Given the description of an element on the screen output the (x, y) to click on. 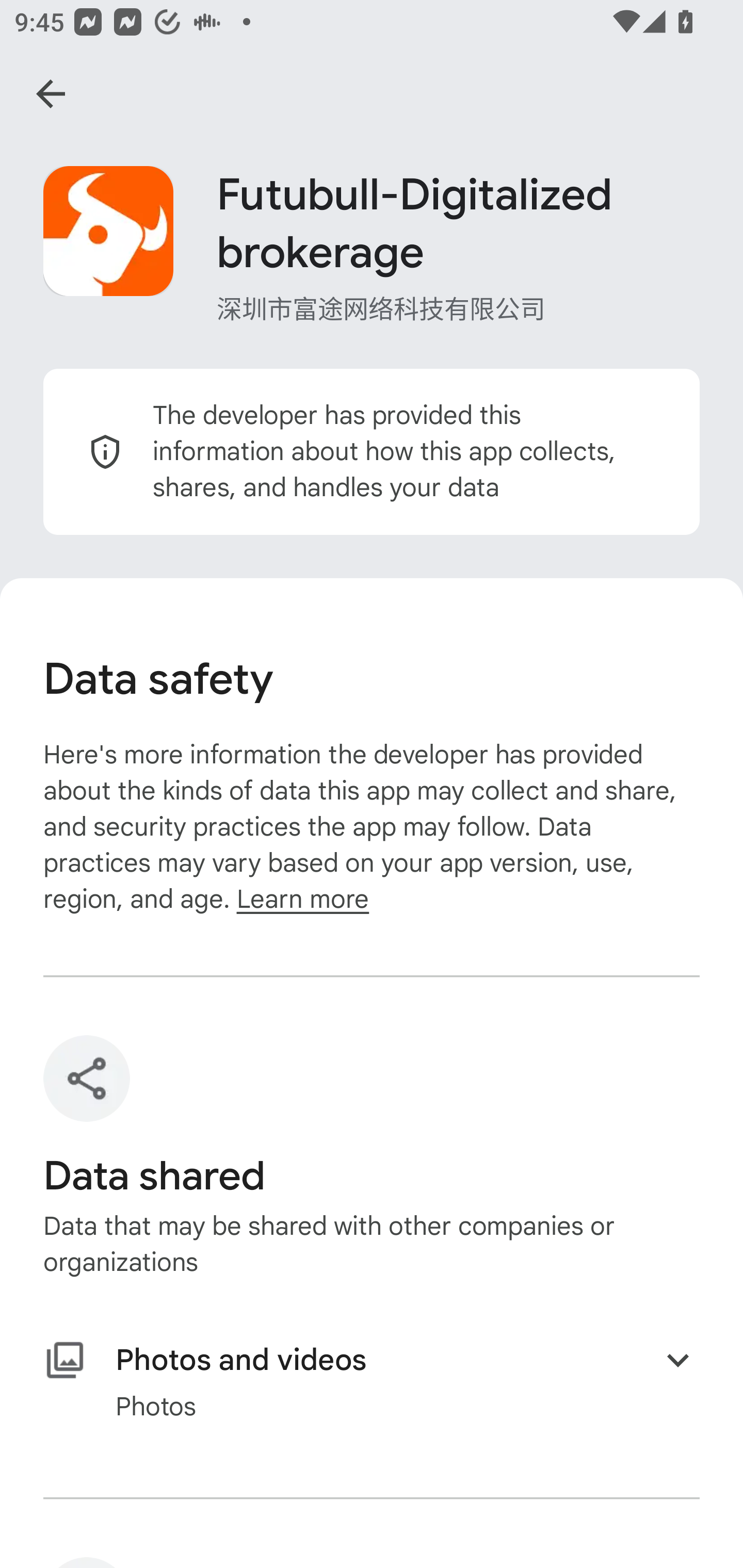
Navigate up (50, 93)
heading Photos and videos Photos Expand button (371, 1382)
